Given the description of an element on the screen output the (x, y) to click on. 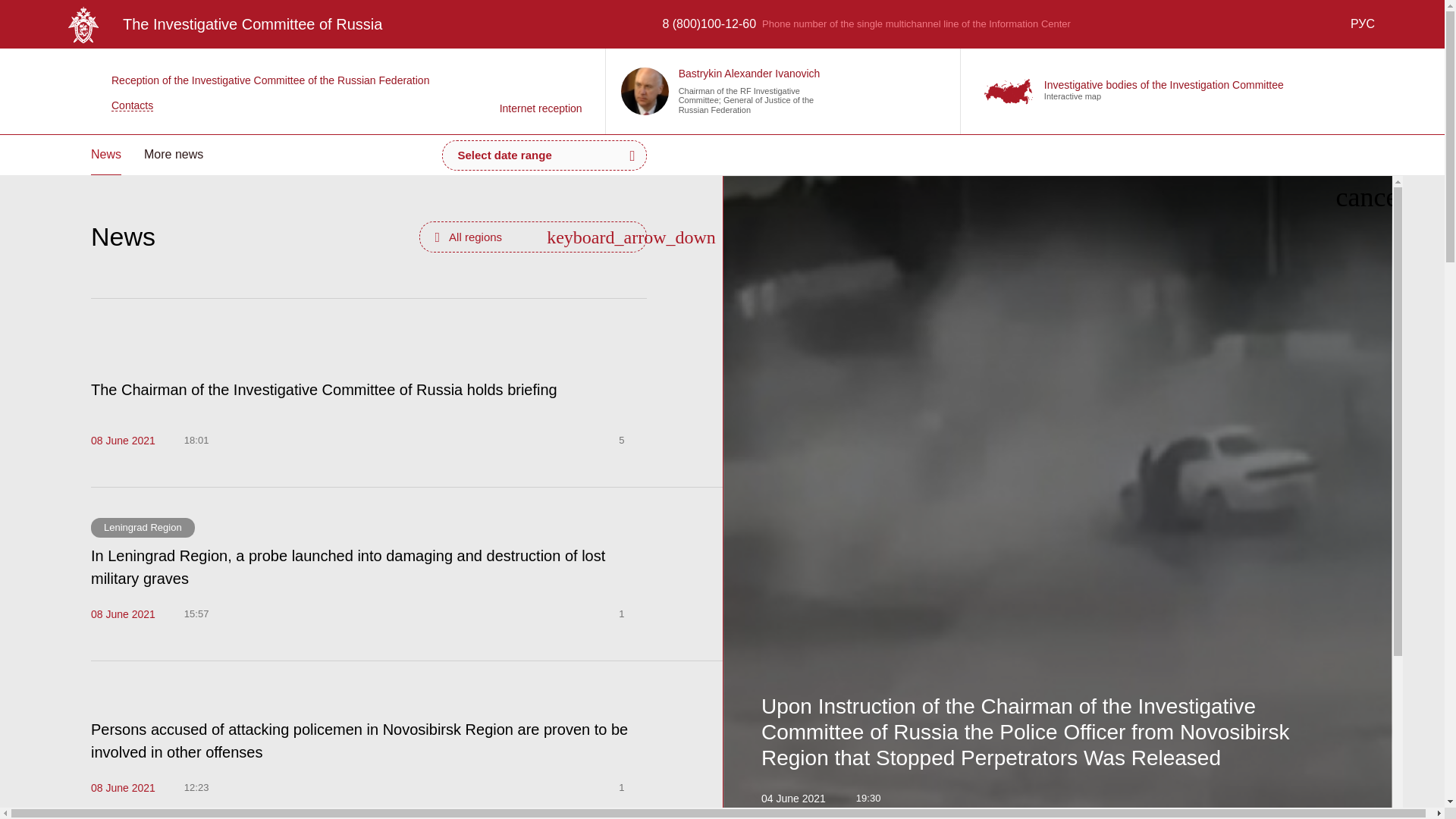
Close (1370, 196)
The Investigative Committee of Russia (224, 23)
News (105, 154)
Contacts (259, 105)
Investigative bodies of the Investigation Committee (1163, 84)
5 (632, 439)
More news (173, 154)
Internet reception (540, 90)
Bastrykin Alexander Ivanovich (749, 73)
